Given the description of an element on the screen output the (x, y) to click on. 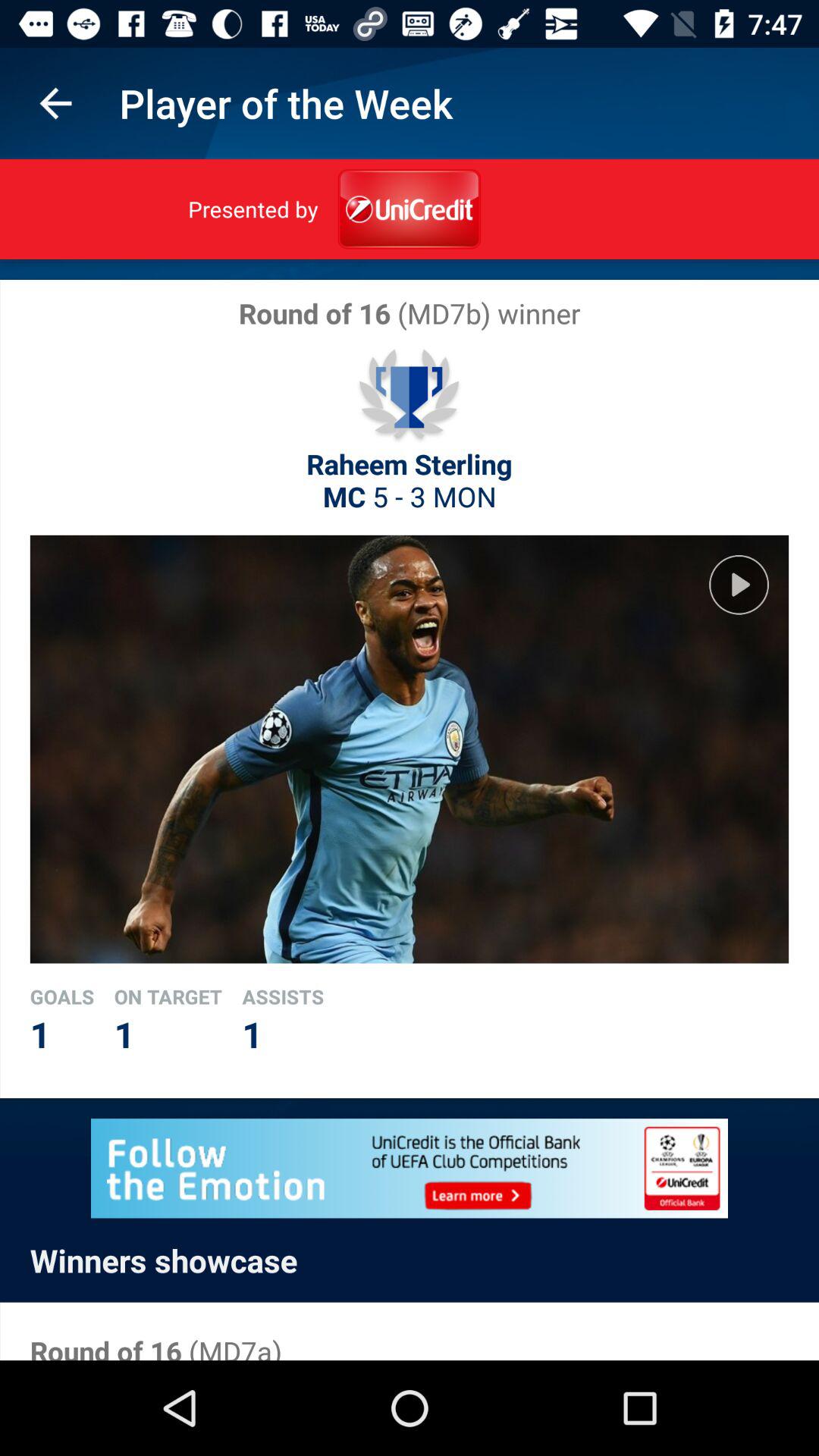
go back (55, 103)
